Given the description of an element on the screen output the (x, y) to click on. 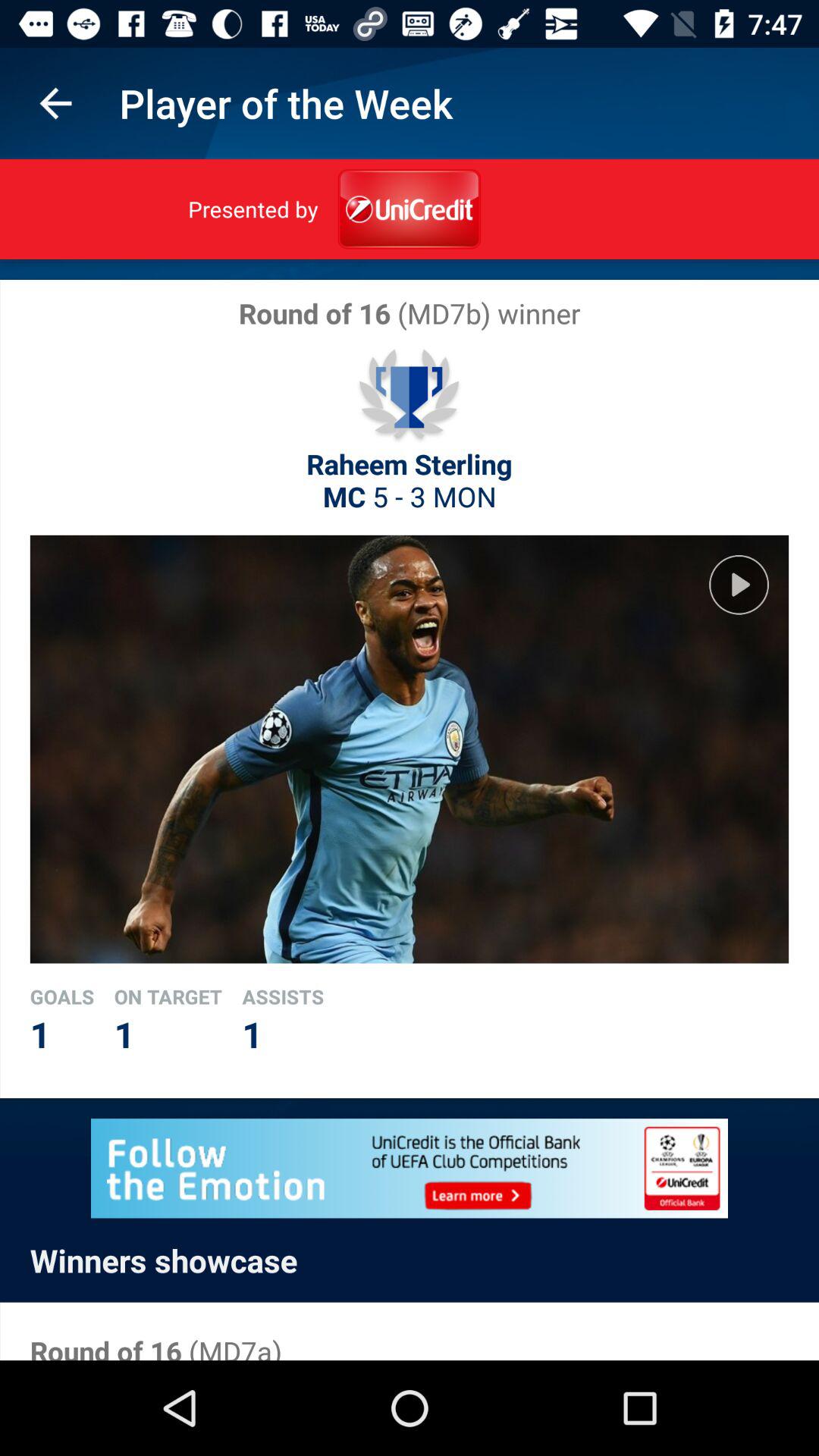
go back (55, 103)
